Given the description of an element on the screen output the (x, y) to click on. 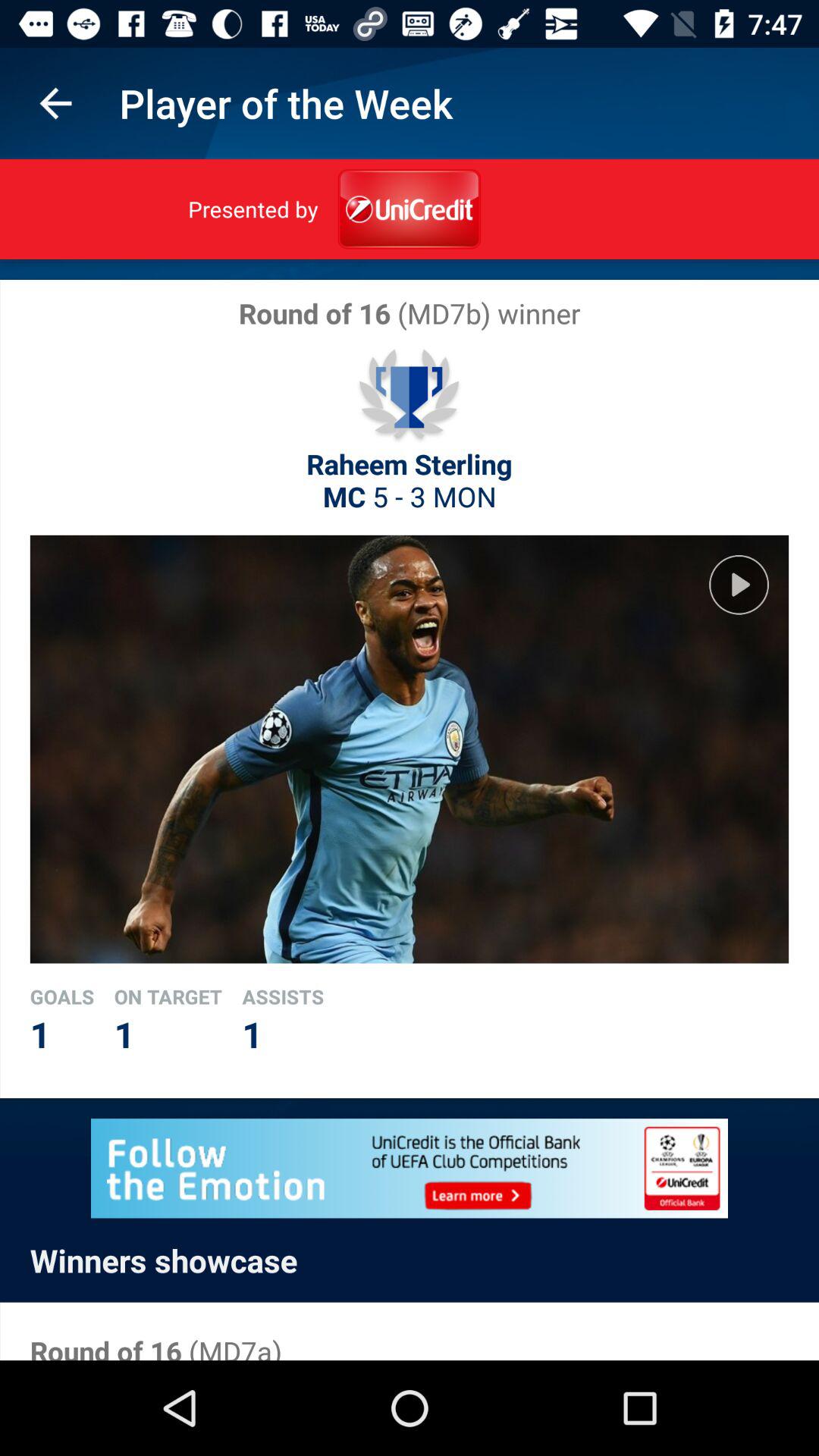
go back (55, 103)
